Given the description of an element on the screen output the (x, y) to click on. 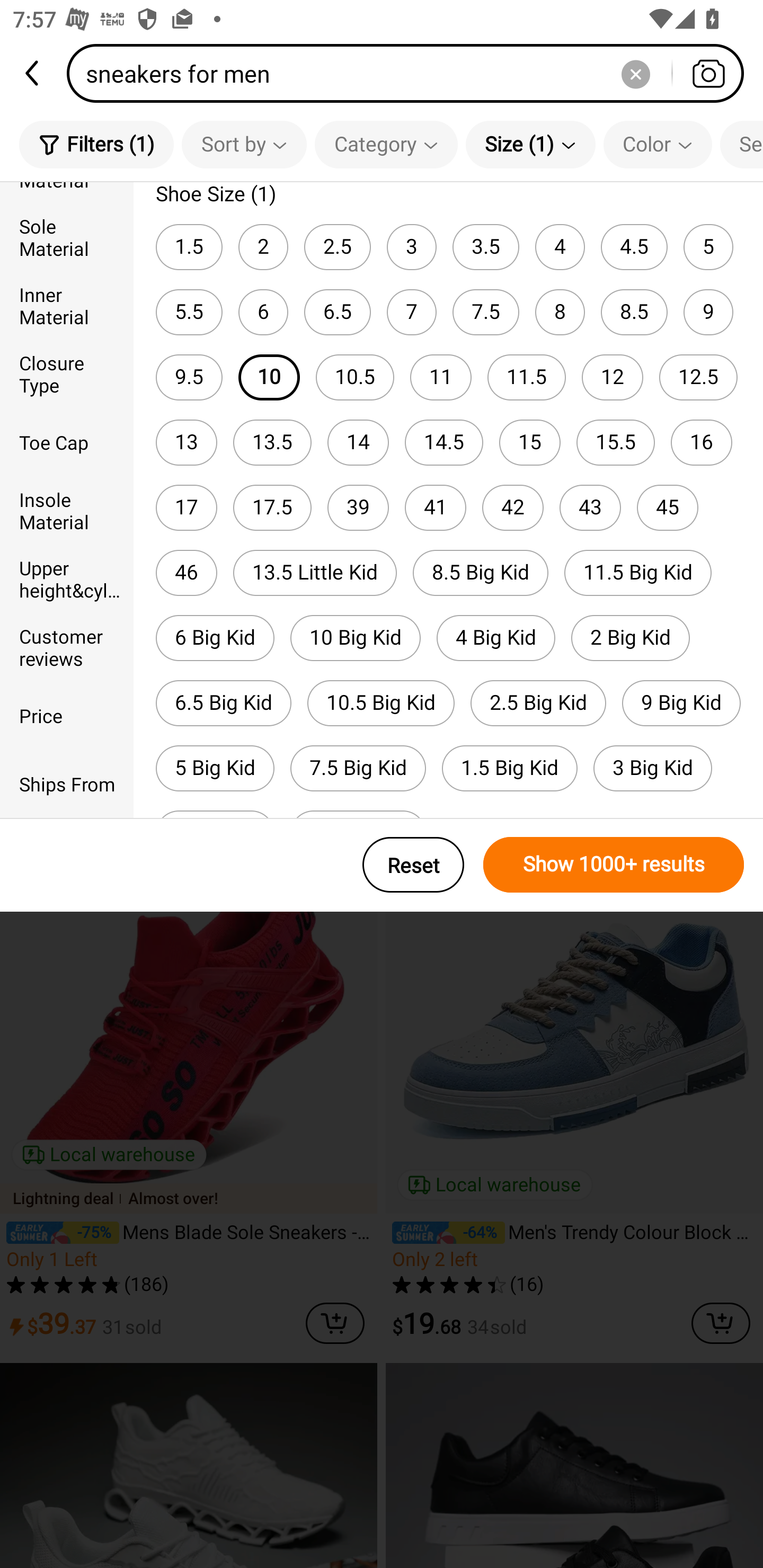
back (33, 72)
sneakers for men (411, 73)
Delete search history (635, 73)
Search by photo (708, 73)
Filters (1) (96, 143)
Sort by (243, 143)
Category (385, 143)
Size (1) (530, 143)
Color (657, 143)
Sole Material (66, 236)
1.5 (188, 246)
2 (263, 246)
2.5 (337, 246)
3 (411, 246)
3.5 (485, 246)
4 (559, 246)
4.5 (634, 246)
5 (708, 246)
Inner Material (66, 305)
5.5 (188, 311)
6 (263, 311)
6.5 (337, 311)
7 (411, 311)
7.5 (485, 311)
8 (559, 311)
8.5 (634, 311)
9 (708, 311)
Closure Type (66, 373)
9.5 (188, 376)
10 (268, 376)
10.5 (354, 376)
11 (440, 376)
11.5 (526, 376)
12 (612, 376)
12.5 (698, 376)
Toe Cap (66, 441)
13 (186, 442)
13.5 (272, 442)
14 (358, 442)
14.5 (443, 442)
15 (529, 442)
15.5 (615, 442)
16 (701, 442)
Insole Material (66, 510)
17 (186, 507)
17.5 (272, 507)
39 (358, 507)
41 (435, 507)
42 (512, 507)
43 (590, 507)
45 (667, 507)
Upper height&cylinder height (66, 578)
46 (186, 572)
13.5 Little Kid (314, 572)
8.5 Big Kid (480, 572)
11.5 Big Kid (637, 572)
Customer reviews (66, 646)
6 Big Kid (214, 637)
10 Big Kid (355, 637)
4 Big Kid (495, 637)
2 Big Kid (630, 637)
6.5 Big Kid (223, 702)
10.5 Big Kid (380, 702)
2.5 Big Kid (537, 702)
9 Big Kid (680, 702)
Price (66, 714)
5 Big Kid (214, 767)
7.5 Big Kid (357, 767)
1.5 Big Kid (509, 767)
3 Big Kid (652, 767)
Reset (412, 864)
Show 1000+ results (612, 864)
